Given the description of an element on the screen output the (x, y) to click on. 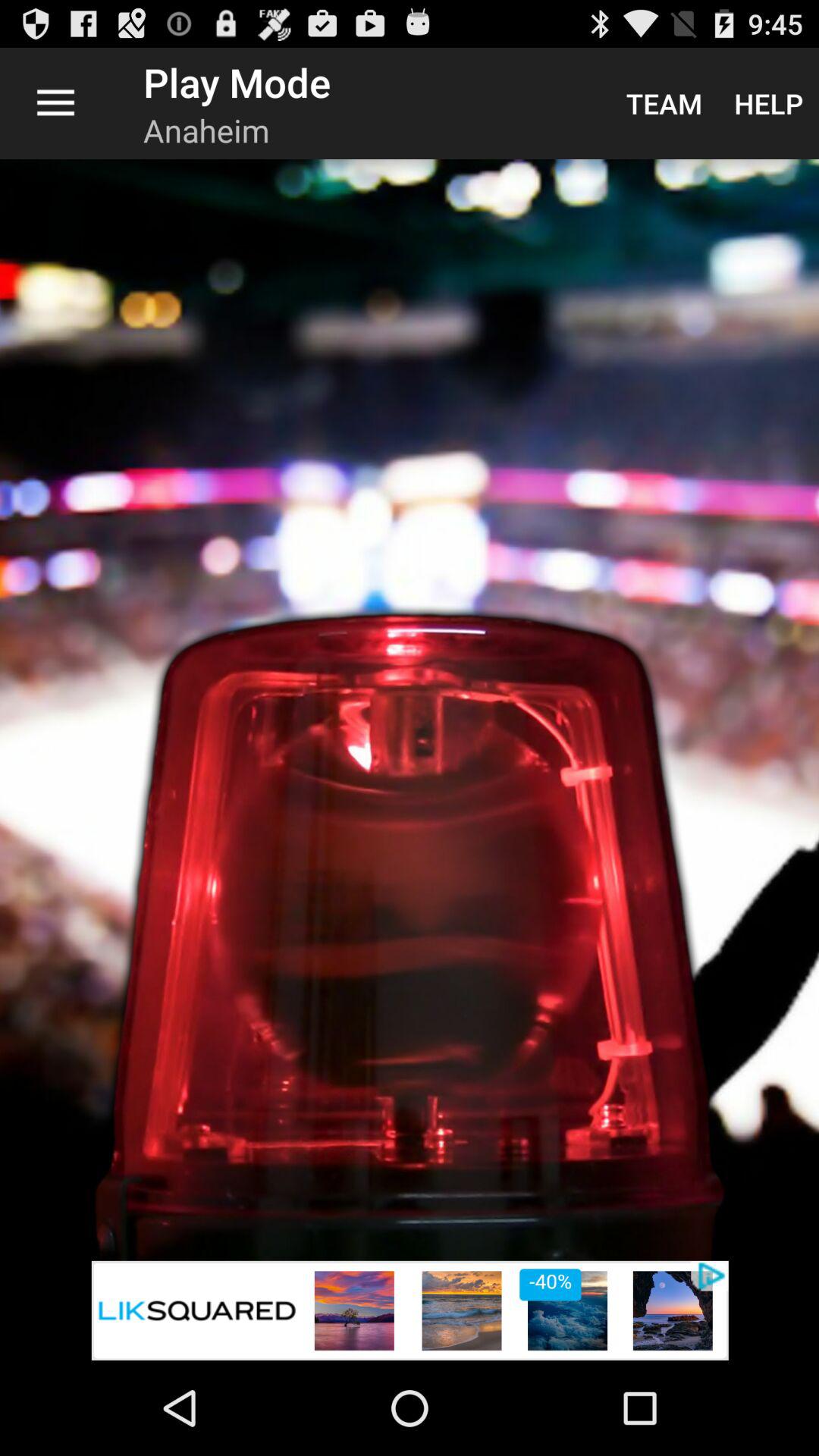
press help (768, 103)
